Given the description of an element on the screen output the (x, y) to click on. 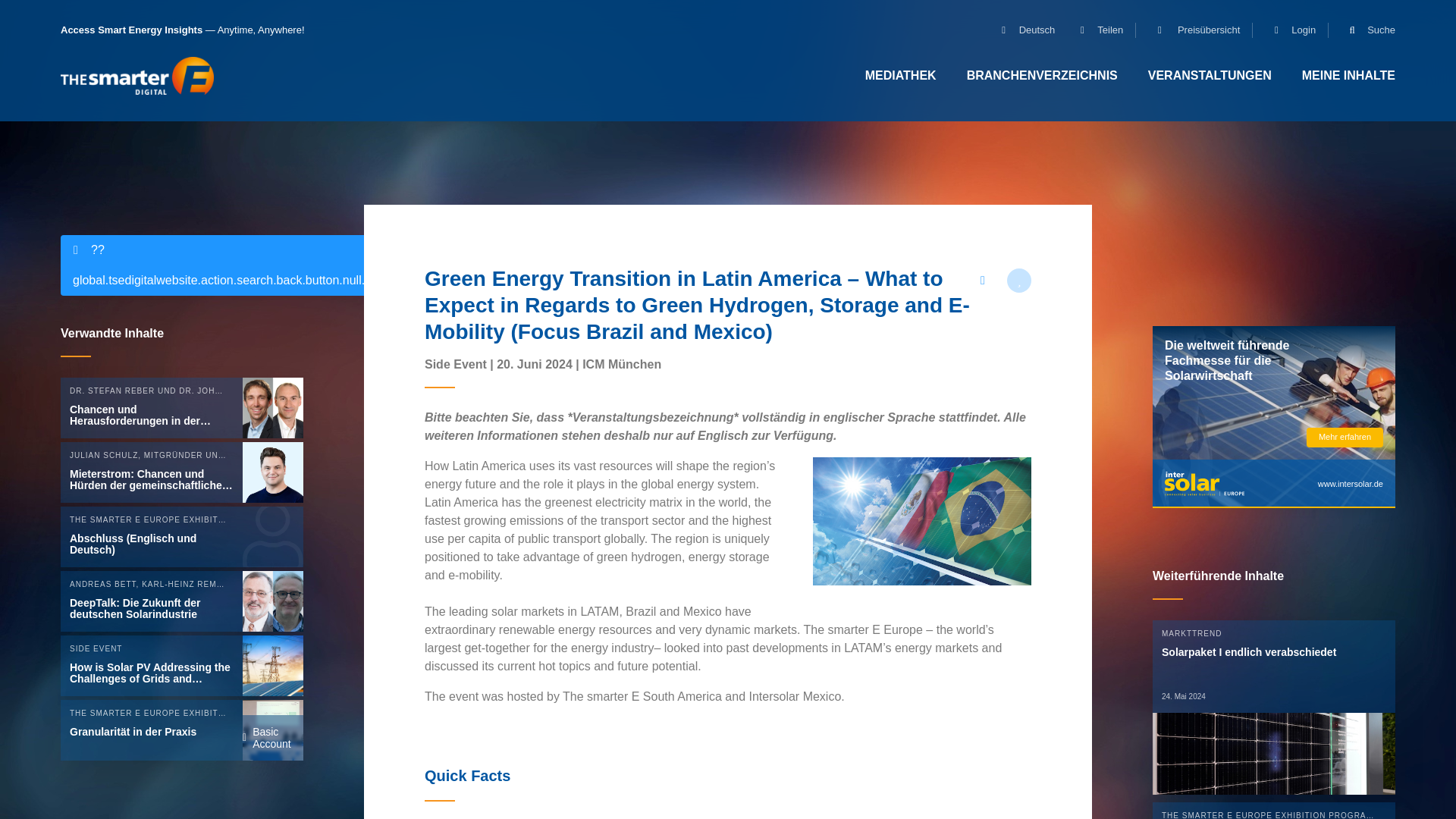
VERANSTALTUNGEN (1209, 75)
BRANCHENVERZEICHNIS (1042, 75)
Login (1288, 30)
Teilen (1094, 30)
Suche (1365, 30)
MEDIATHEK (901, 75)
Deutsch (1021, 30)
MEINE INHALTE (1348, 75)
